Given the description of an element on the screen output the (x, y) to click on. 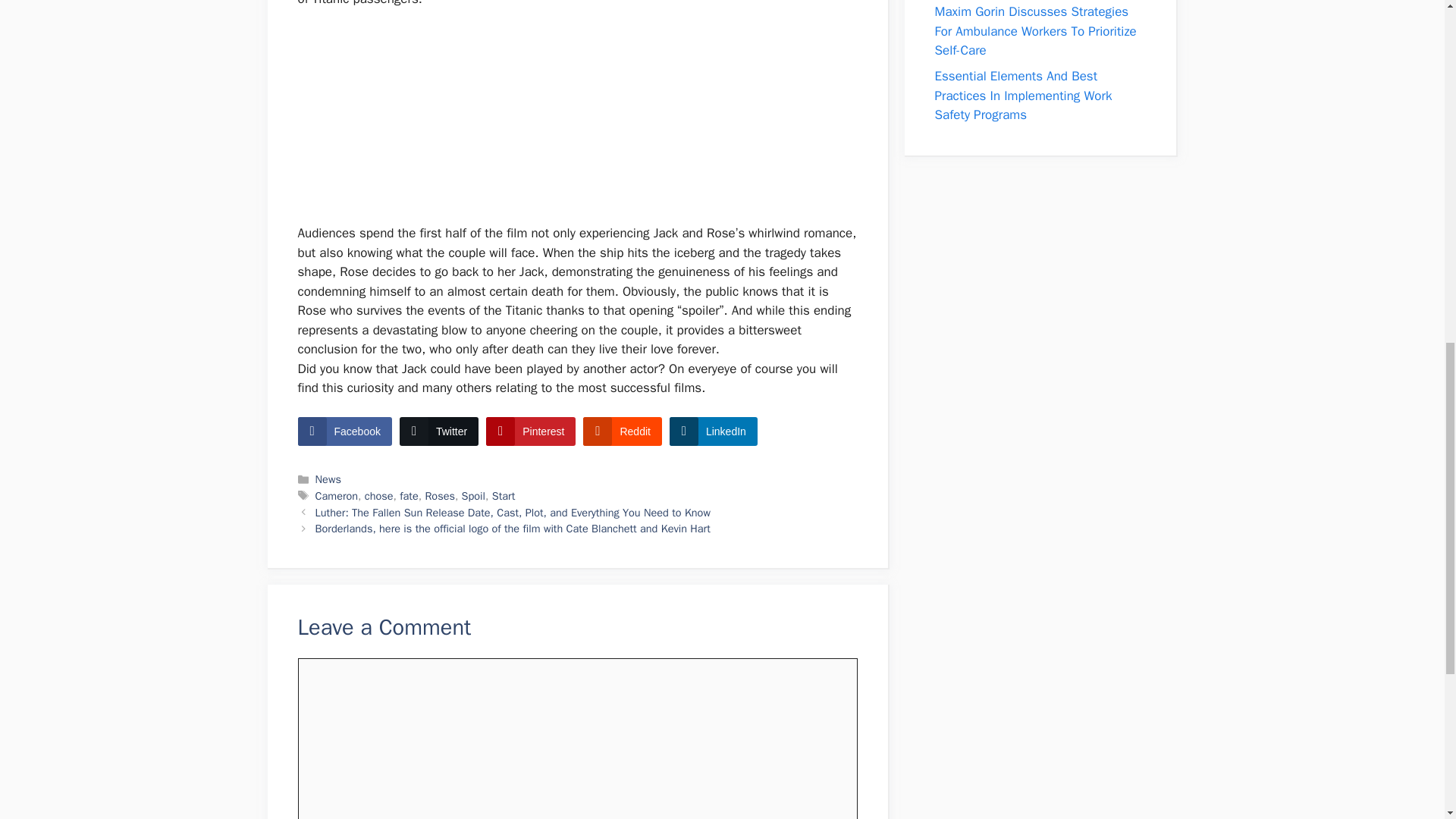
LinkedIn (713, 430)
Cameron (336, 495)
Spoil (472, 495)
fate (408, 495)
chose (379, 495)
Roses (439, 495)
Pinterest (530, 430)
Reddit (622, 430)
Facebook (344, 430)
